Given the description of an element on the screen output the (x, y) to click on. 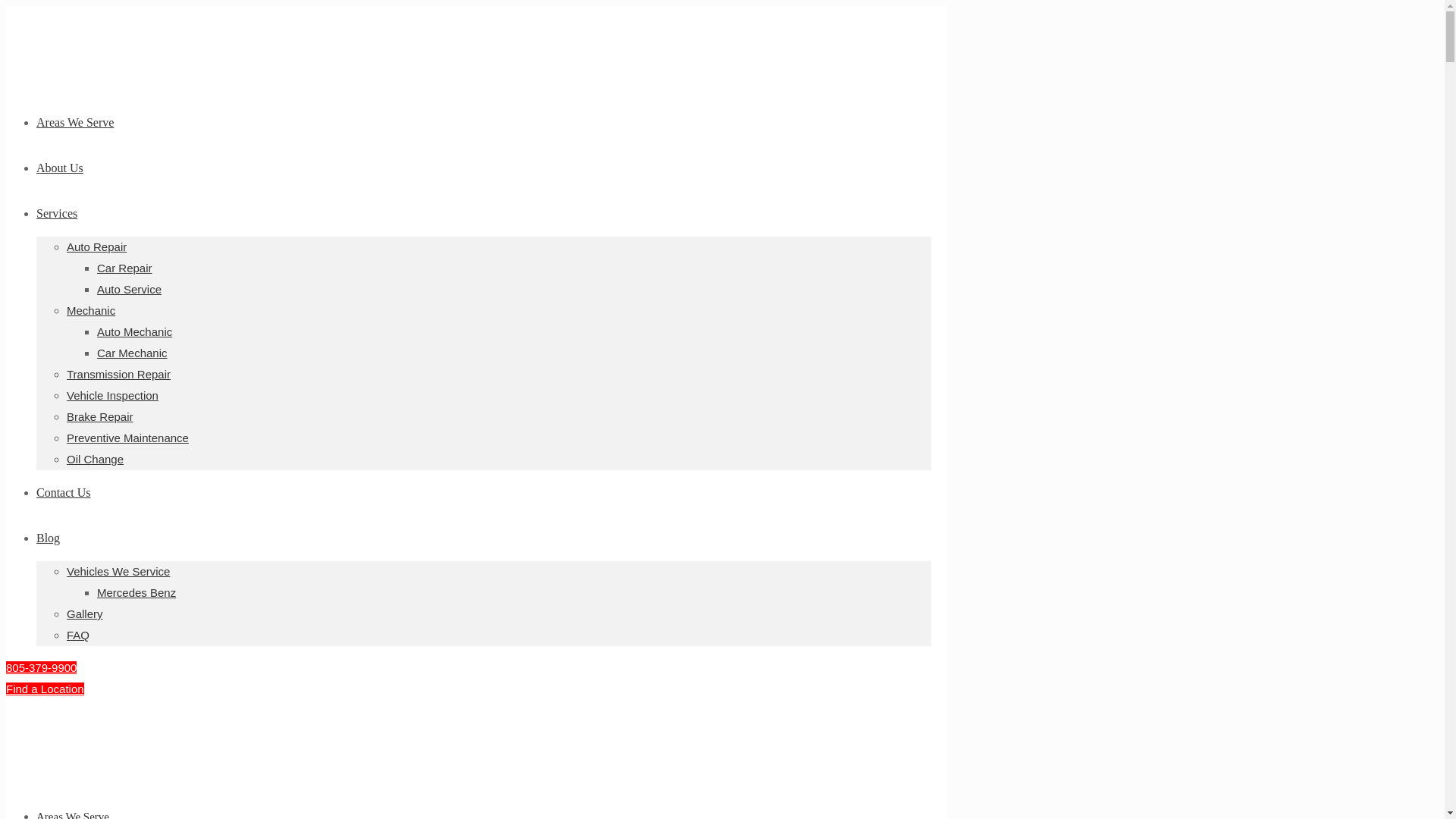
Mechanic (90, 309)
Find a Location (44, 688)
Auto Repair (96, 246)
Oil Change (94, 459)
Areas We Serve (74, 122)
Car Repair (124, 267)
Auto Precision Repair (43, 771)
Vehicle Inspection (112, 395)
Brake Repair (99, 416)
Mercedes Benz (136, 592)
